Given the description of an element on the screen output the (x, y) to click on. 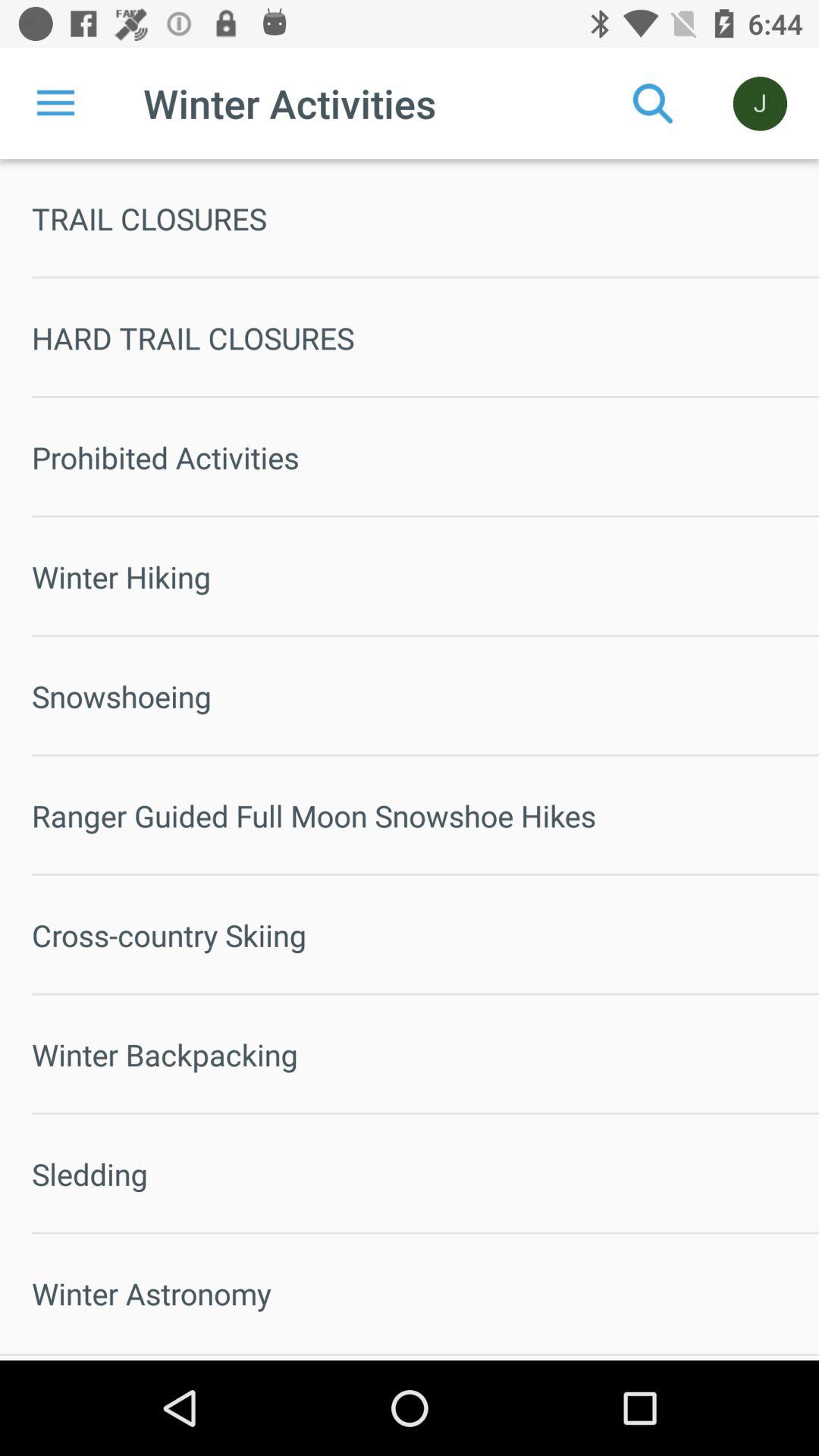
turn on icon next to the winter activities item (55, 103)
